Given the description of an element on the screen output the (x, y) to click on. 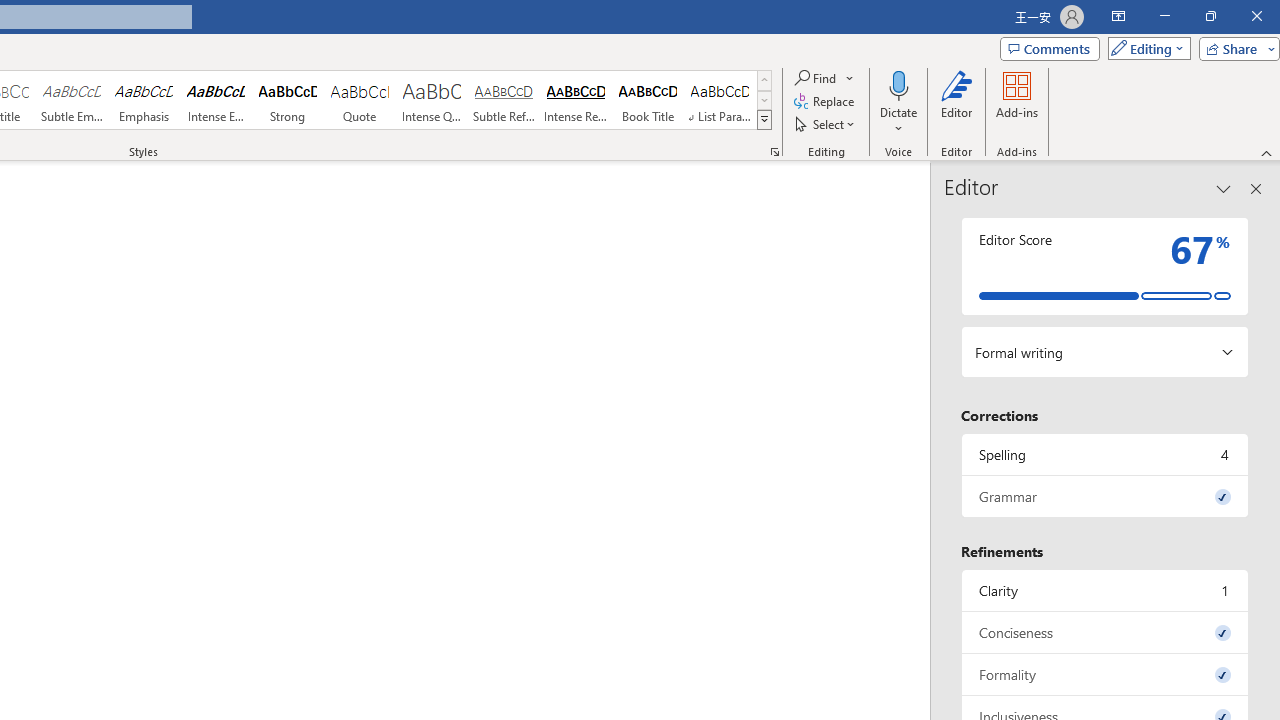
Conciseness, 0 issues. Press space or enter to review items. (1105, 632)
Quote (359, 100)
Emphasis (143, 100)
